Given the description of an element on the screen output the (x, y) to click on. 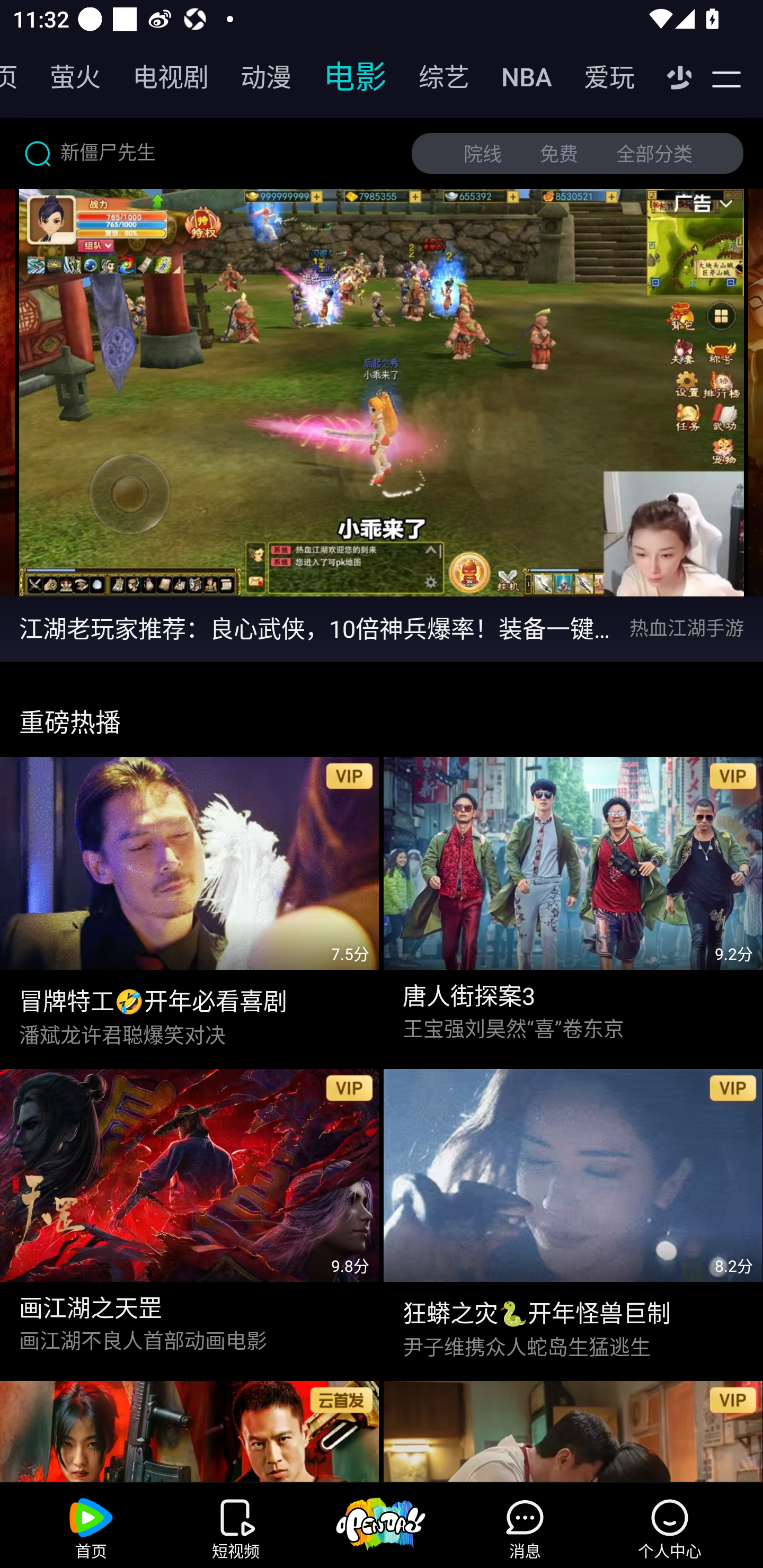
萤火 (65, 77)
电视剧 (160, 77)
动漫 (256, 77)
电影 (344, 77)
综艺 (434, 77)
NBA (517, 77)
爱玩 (599, 77)
新僵尸先生 (207, 152)
院线 (482, 153)
免费 (559, 153)
全部分类 (654, 153)
热血江湖手游 (696, 628)
重磅热播 (381, 713)
冒牌特工🤣开年必看喜剧,7.5分,链接 冒牌特工🤣开年必看喜剧 潘斌龙许君聪爆笑对决 (189, 903)
唐人街探案3,9.2分,链接 唐人街探案3 王宝强刘昊然“喜”卷东京 (572, 903)
画江湖之天罡,9.8分,链接 画江湖之天罡 画江湖不良人首部动画电影 (189, 1215)
狂蟒之灾🐍开年怪兽巨制,8.2分,链接 狂蟒之灾🐍开年怪兽巨制 尹子维携众人蛇岛生猛逃生 (572, 1215)
